Given the description of an element on the screen output the (x, y) to click on. 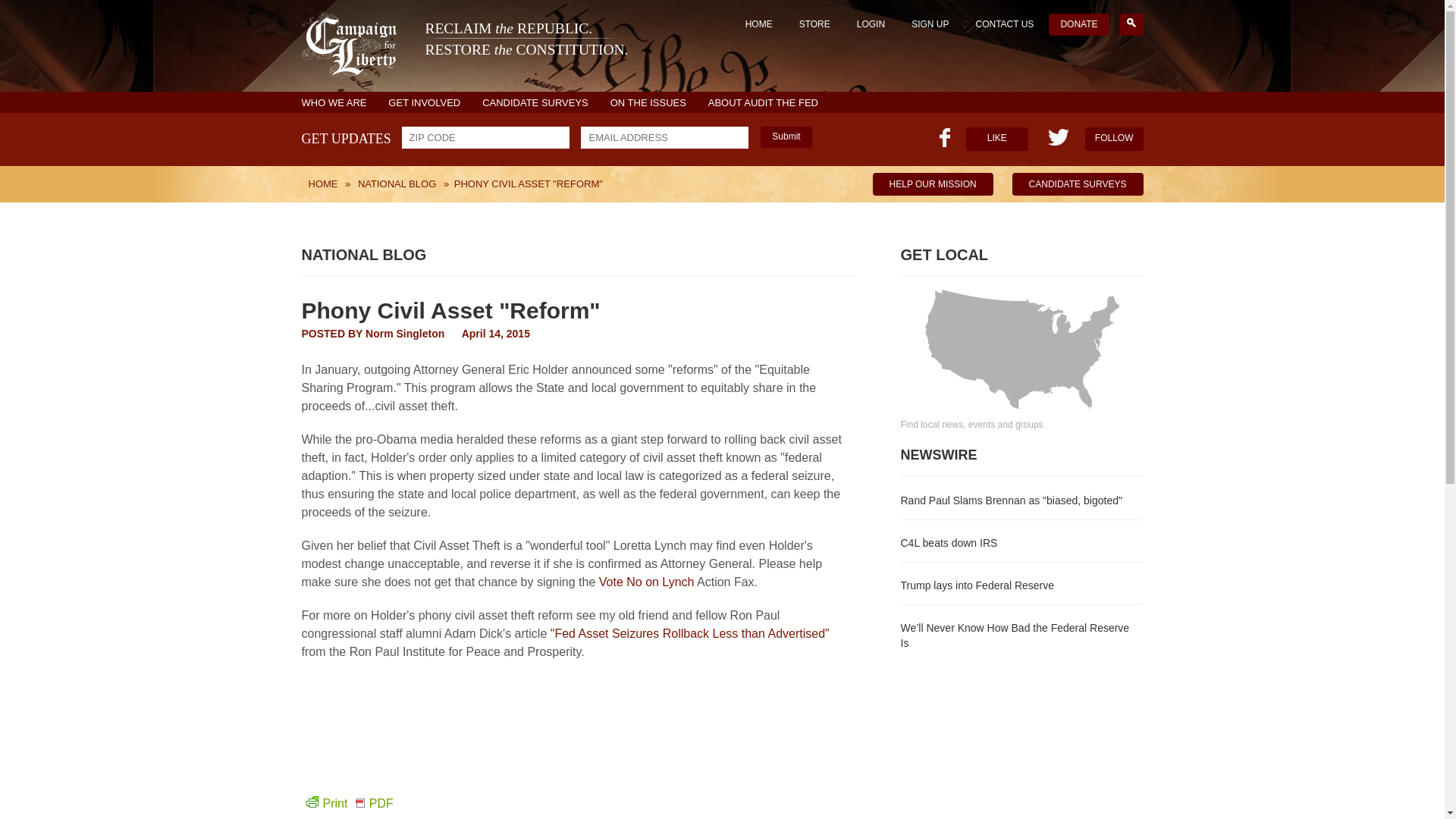
HOME (758, 24)
ABOUT AUDIT THE FED (762, 102)
LIKE (996, 138)
Rand Paul Slams Brennan as "biased, bigoted" (1021, 498)
CANDIDATE SURVEYS (1076, 183)
SIGN UP (464, 50)
CANDIDATE SURVEYS (929, 24)
HOME (534, 102)
C4L beats down IRS (322, 183)
